Given the description of an element on the screen output the (x, y) to click on. 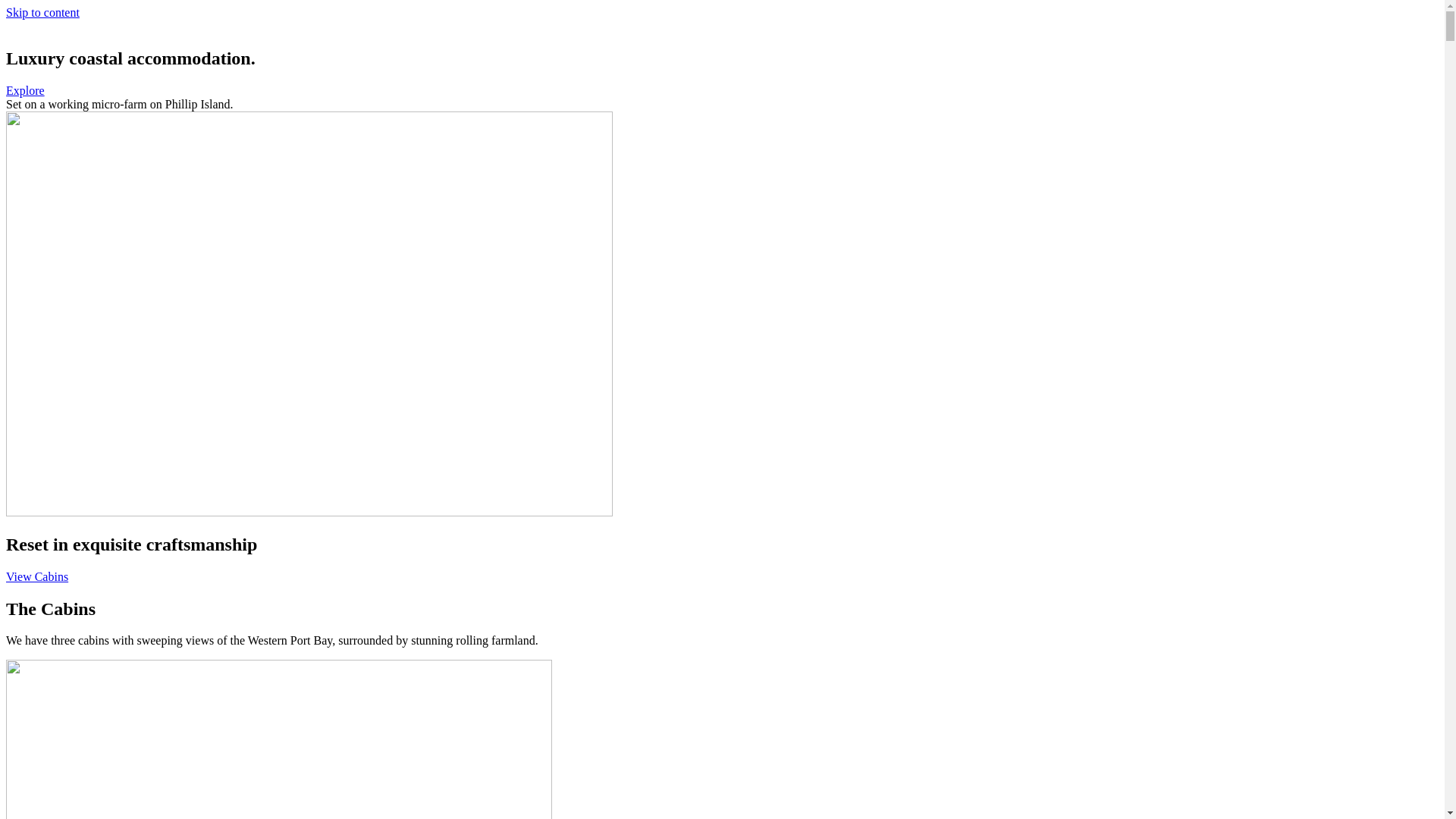
Skip to content Element type: text (42, 12)
Explore Element type: text (25, 90)
View Cabins Element type: text (37, 576)
